Given the description of an element on the screen output the (x, y) to click on. 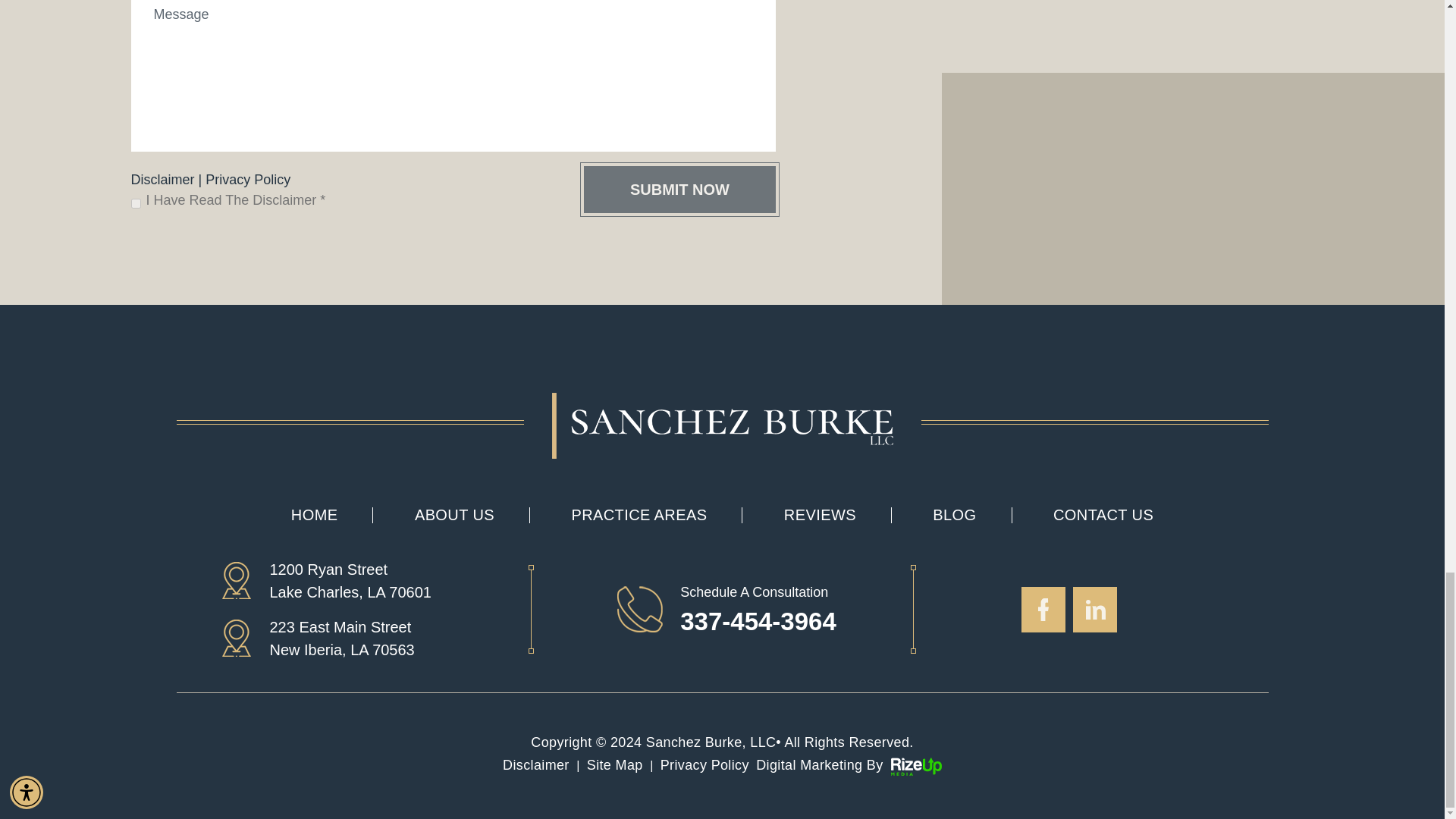
Submit Now (679, 189)
